Given the description of an element on the screen output the (x, y) to click on. 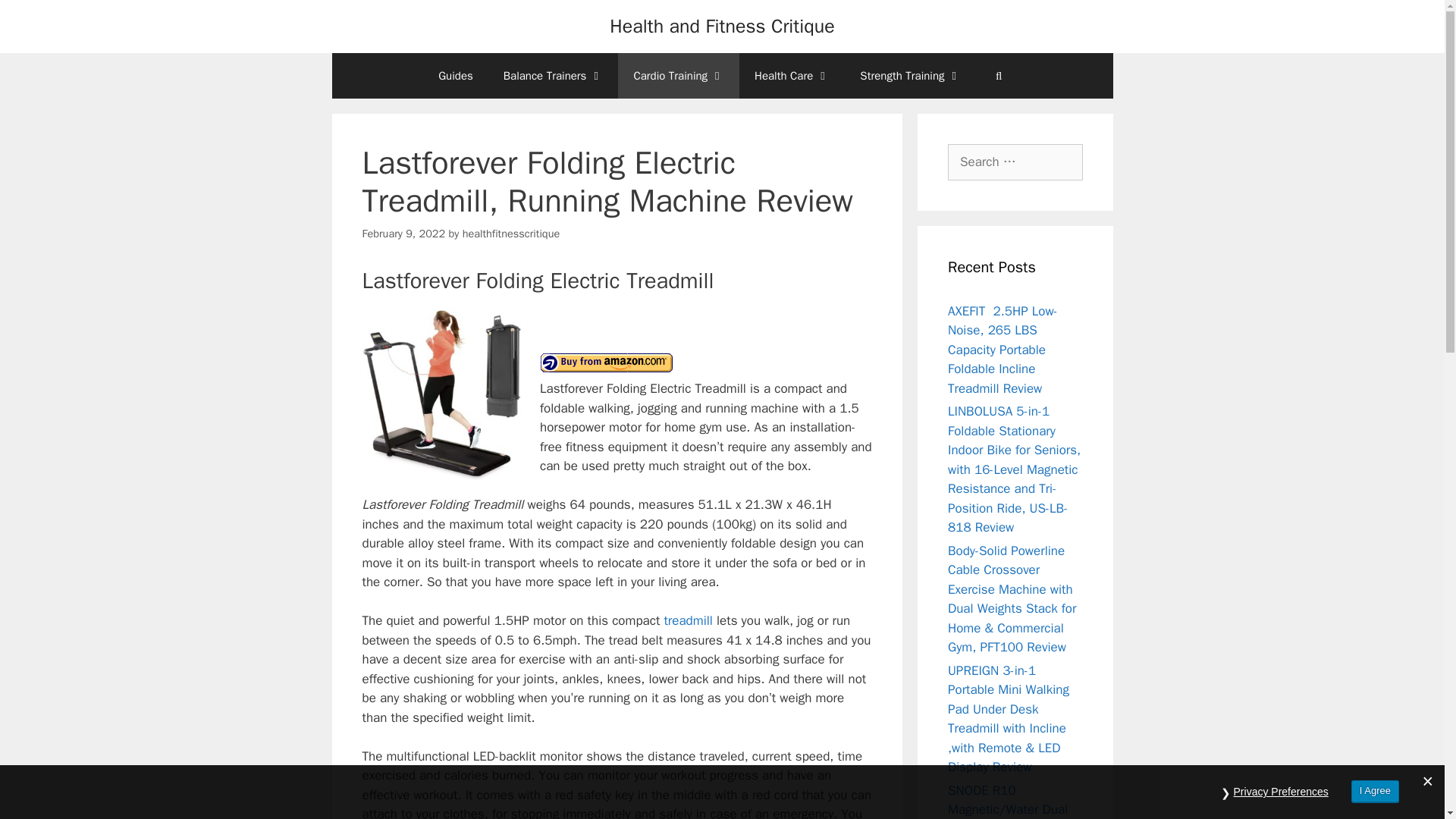
Health Care (791, 75)
Health and Fitness Critique (722, 25)
Search for: (1015, 162)
Strength Training (909, 75)
Cardio Training (678, 75)
Balance Trainers (552, 75)
Guides (455, 75)
Buy from Amazon.com (606, 362)
View all posts by healthfitnesscritique (511, 233)
